Given the description of an element on the screen output the (x, y) to click on. 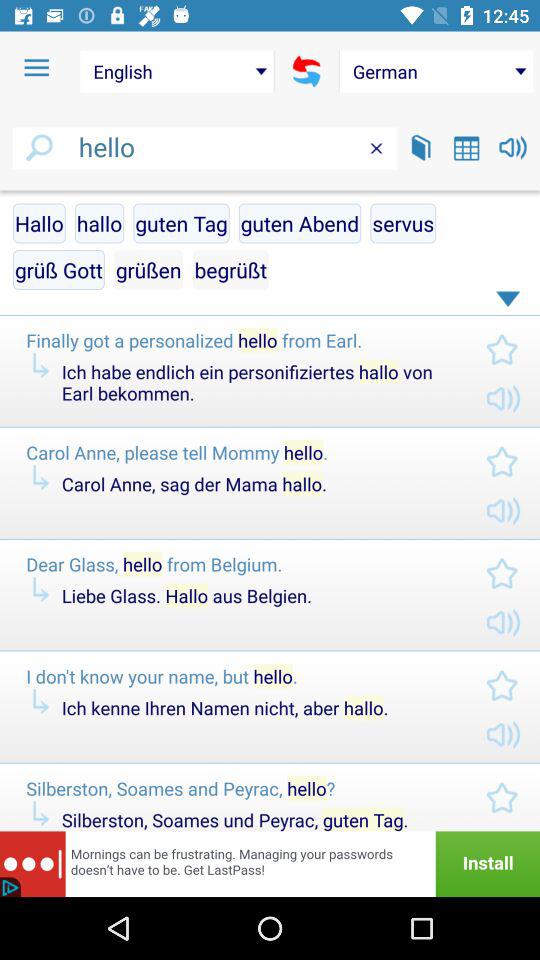
press icon below hallo item (58, 269)
